Given the description of an element on the screen output the (x, y) to click on. 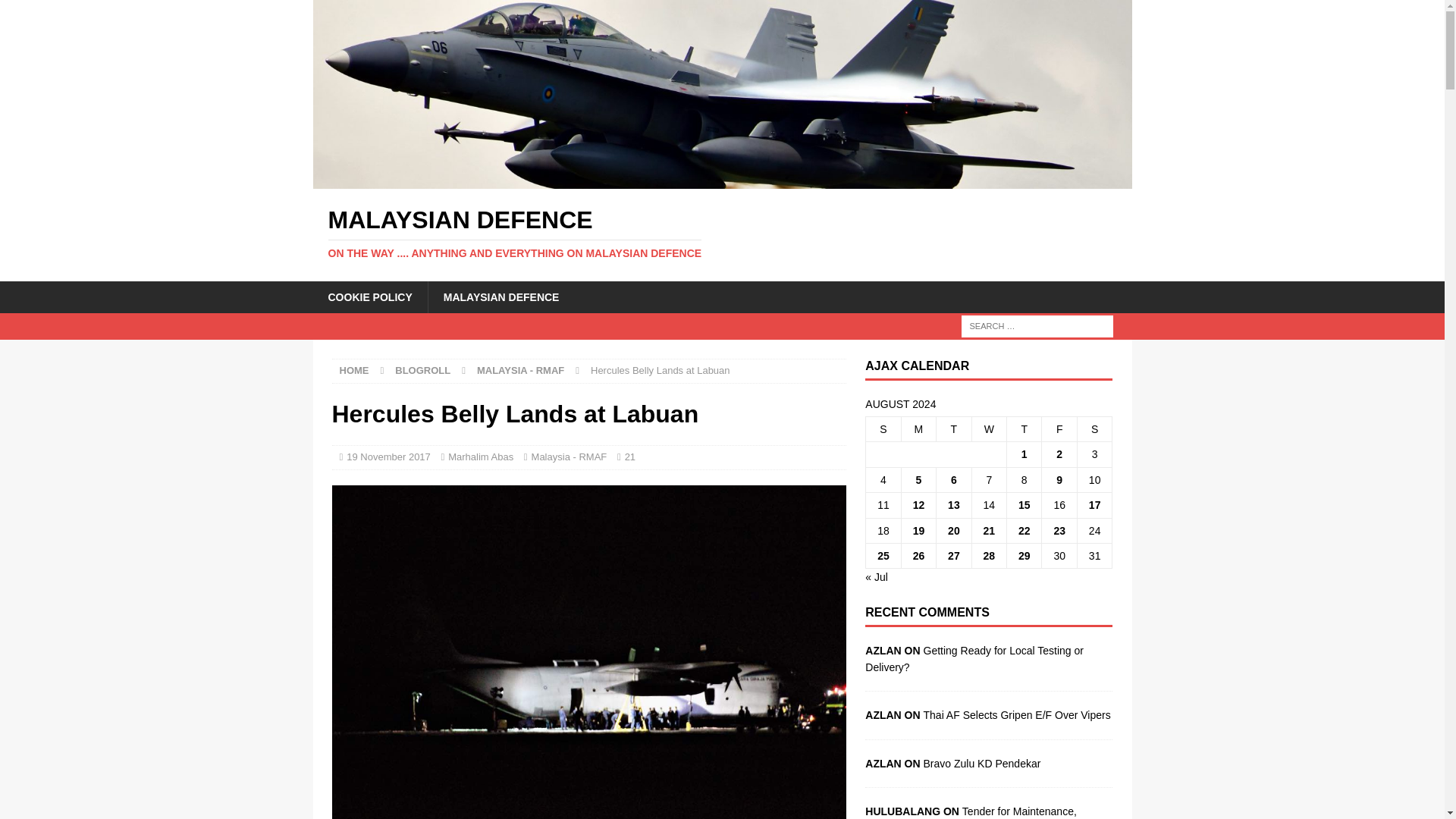
Marhalim Abas (480, 456)
COOKIE POLICY (369, 296)
MALAYSIA - RMAF (520, 369)
21 (629, 456)
19 November 2017 (388, 456)
Malaysia - RMAF (569, 456)
Malaysian Defence (721, 233)
HOME (354, 369)
